Given the description of an element on the screen output the (x, y) to click on. 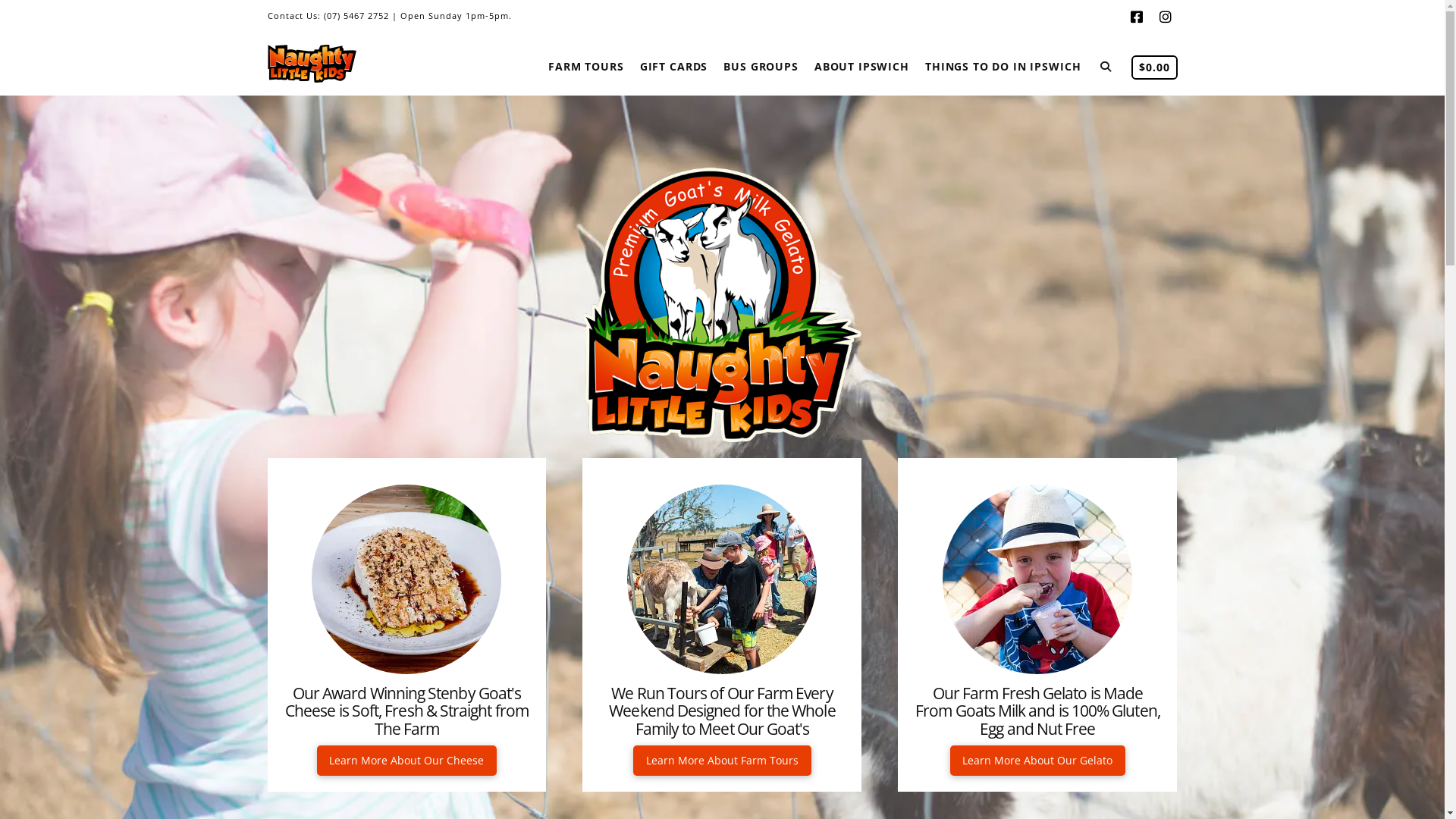
Learn More About Our Cheese Element type: text (406, 760)
GIFT CARDS Element type: text (673, 64)
THINGS TO DO IN IPSWICH Element type: text (1002, 64)
Instagram Element type: hover (1164, 16)
Facebook Element type: hover (1135, 16)
Learn More About Farm Tours Element type: text (722, 760)
Learn More About Our Gelato Element type: text (1038, 760)
ABOUT IPSWICH Element type: text (861, 64)
$0.00 Element type: text (1154, 64)
FARM TOURS Element type: text (585, 64)
BUS GROUPS Element type: text (760, 64)
